Given the description of an element on the screen output the (x, y) to click on. 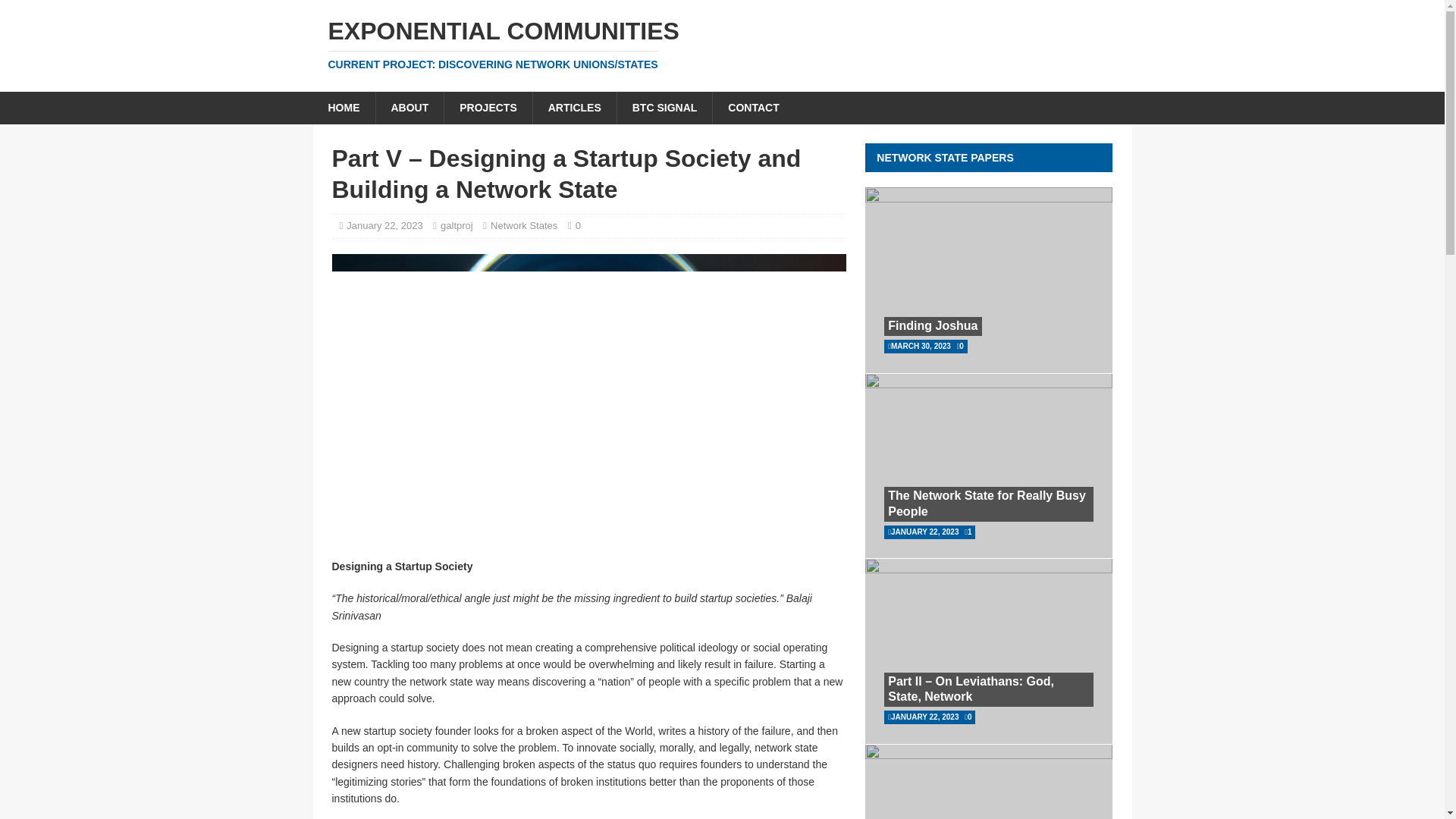
ABOUT (409, 107)
PROJECTS (487, 107)
The Network State for Really Busy People (987, 502)
Network States (523, 225)
CONTACT (752, 107)
The Network State for Really Busy People (987, 502)
BTC SIGNAL (664, 107)
Finding Joshua (932, 325)
January 22, 2023 (384, 225)
